Given the description of an element on the screen output the (x, y) to click on. 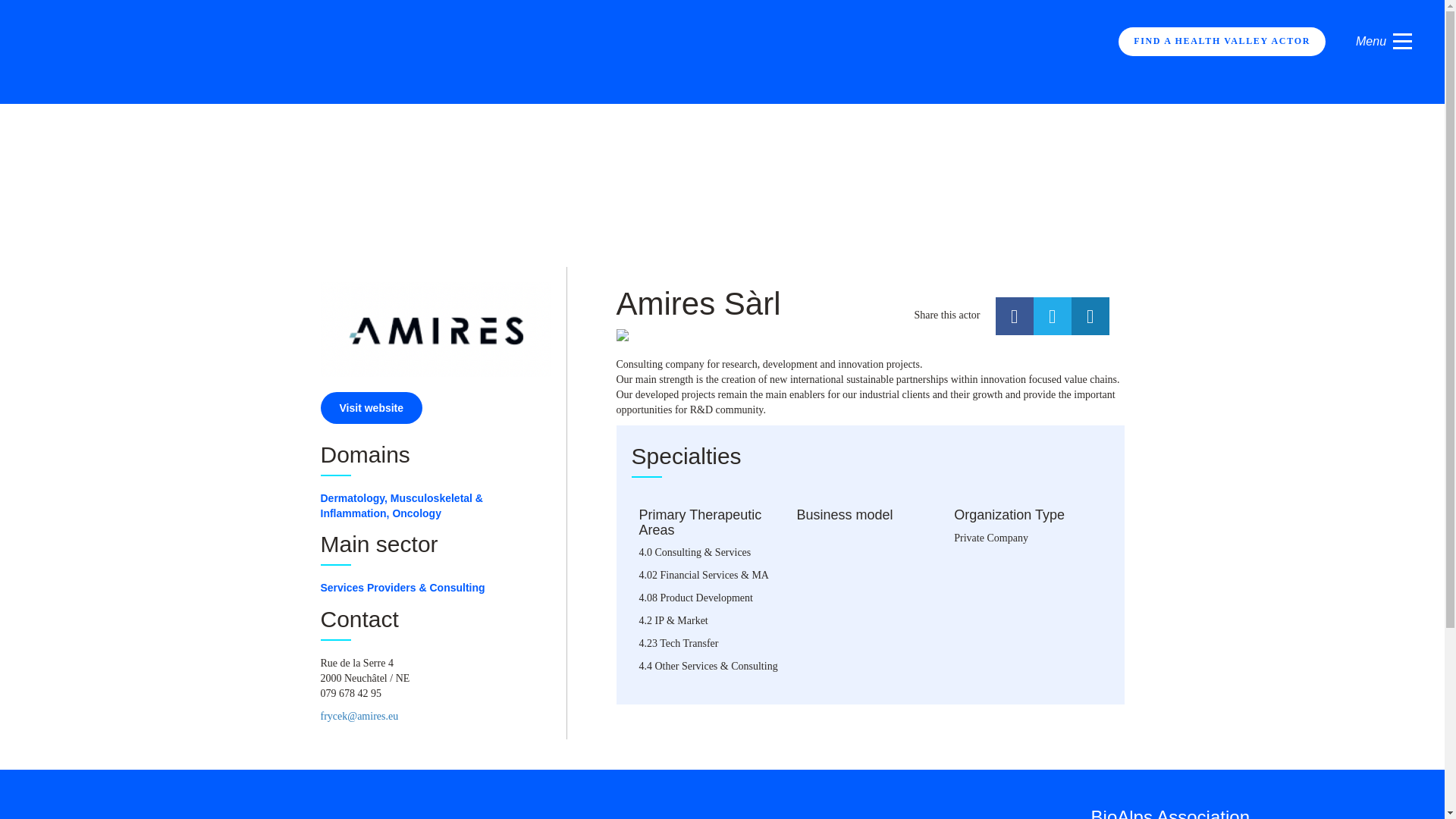
FIND A HEALTH VALLEY ACTOR (1221, 41)
BioAlps Association (1169, 812)
Bio Alps (254, 50)
